Given the description of an element on the screen output the (x, y) to click on. 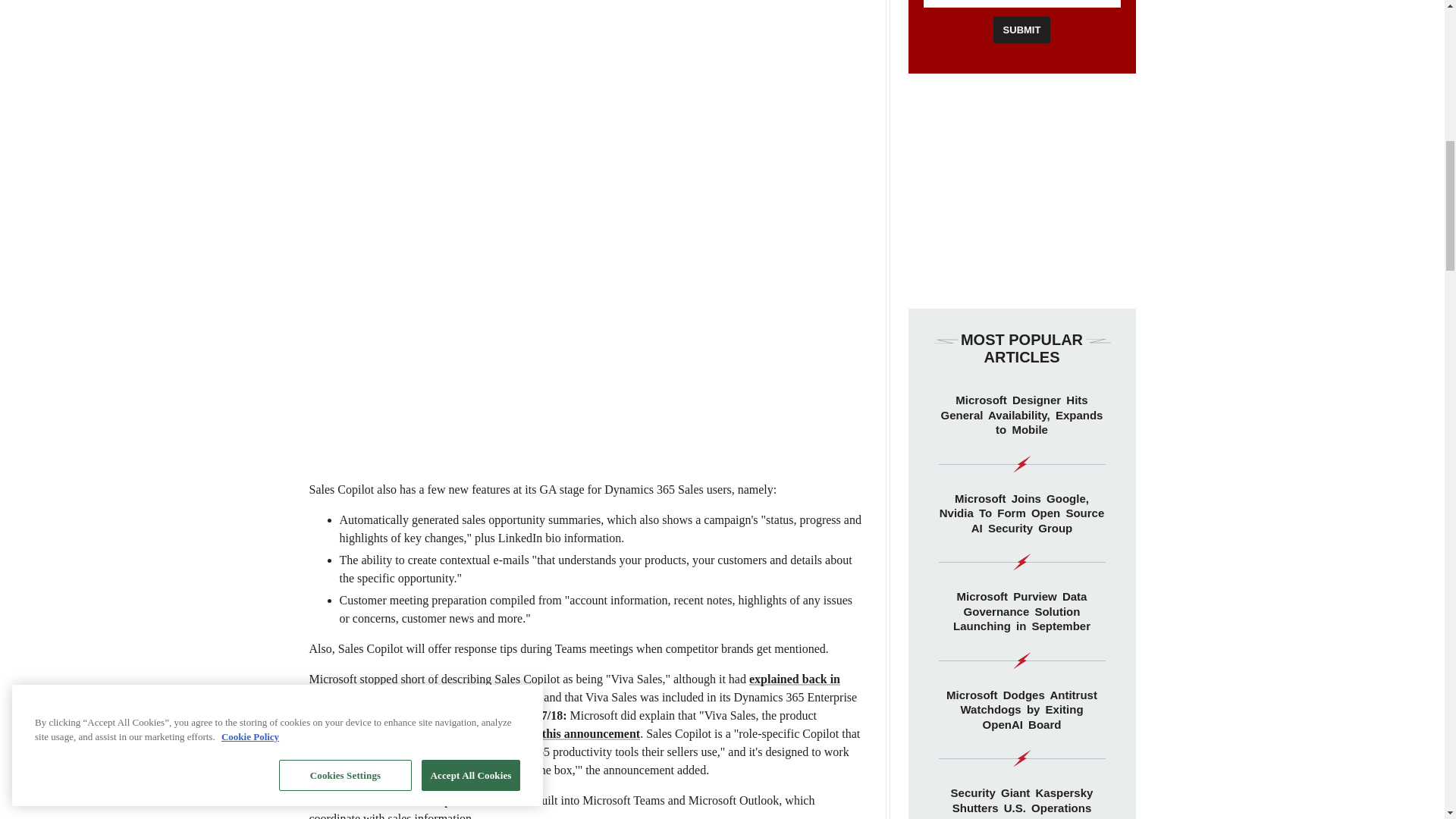
Submit (1021, 29)
explained back in March (574, 687)
3rd party ad content (1021, 190)
3rd party ad content (584, 240)
this announcement (590, 733)
